Given the description of an element on the screen output the (x, y) to click on. 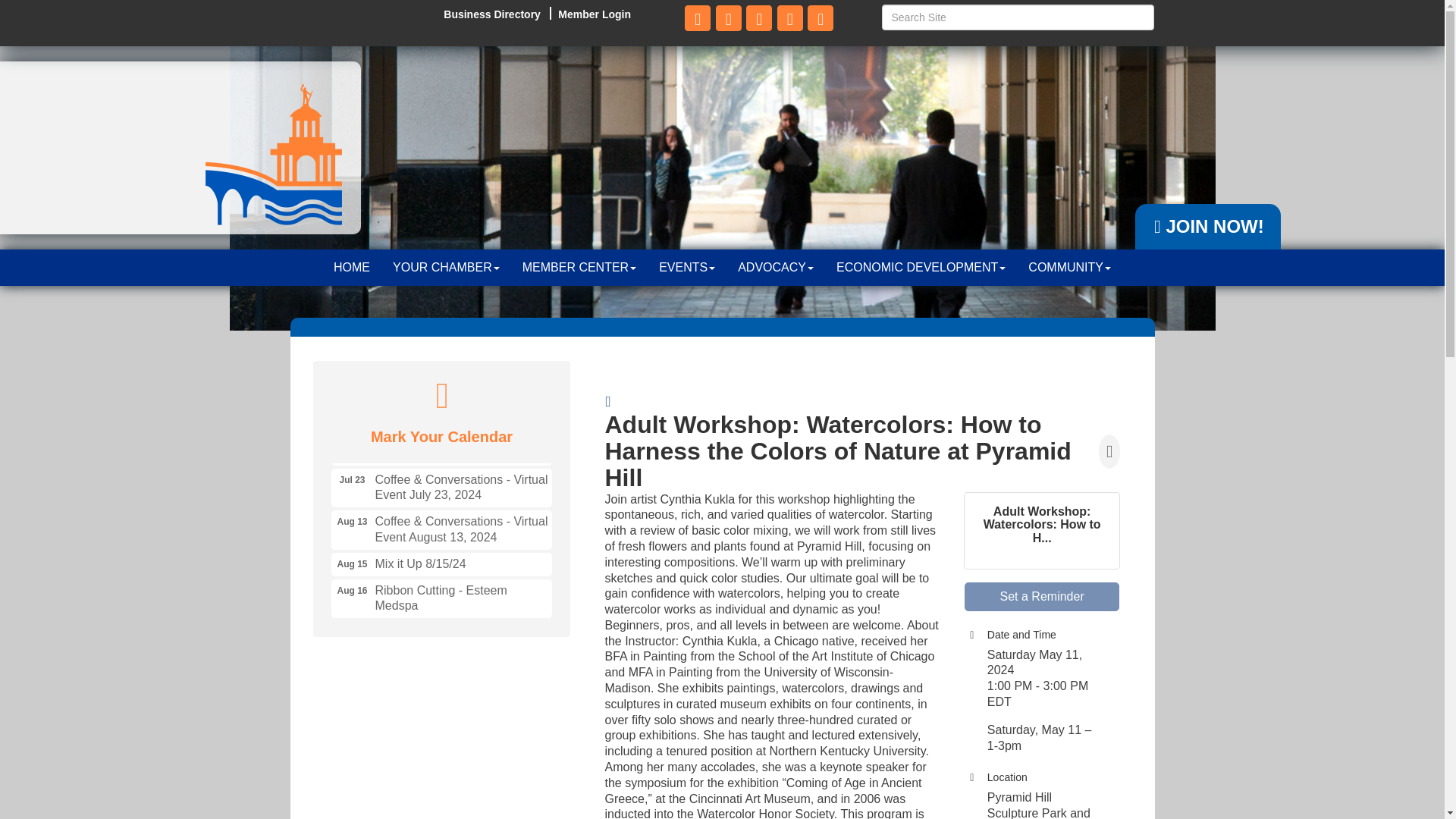
Icon Link (820, 17)
Aug 13 (352, 521)
Ribbon Cutting - Butler County Fairgrounds (440, 445)
YOUR CHAMBER (446, 267)
JOIN NOW! (1209, 226)
Aug 16 (352, 590)
Icon Link (440, 599)
HOME (728, 17)
MEMBER CENTER (351, 267)
Jul 23 (579, 267)
Ribbon Cutting - Butler County Fairgrounds (352, 480)
Member Login (440, 445)
Icon Link (593, 12)
Ribbon Cutting - Esteem Medspa (697, 17)
